Given the description of an element on the screen output the (x, y) to click on. 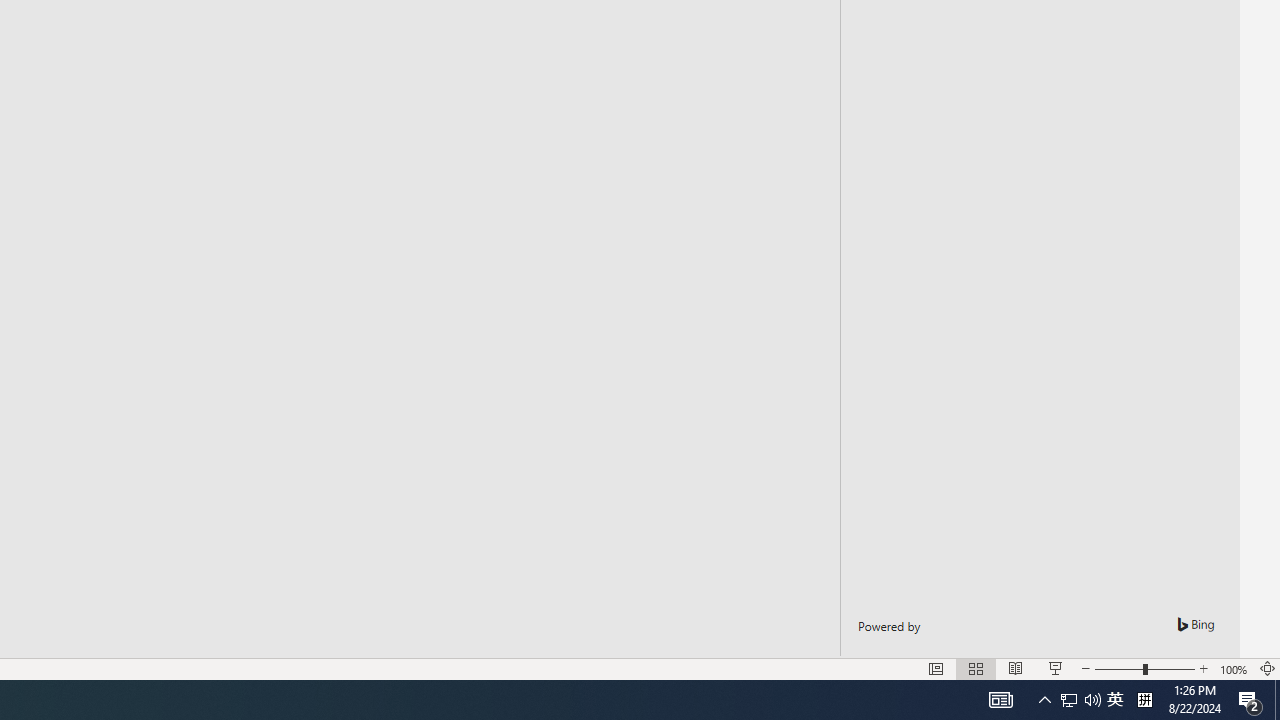
Zoom 100% (1234, 668)
